Given the description of an element on the screen output the (x, y) to click on. 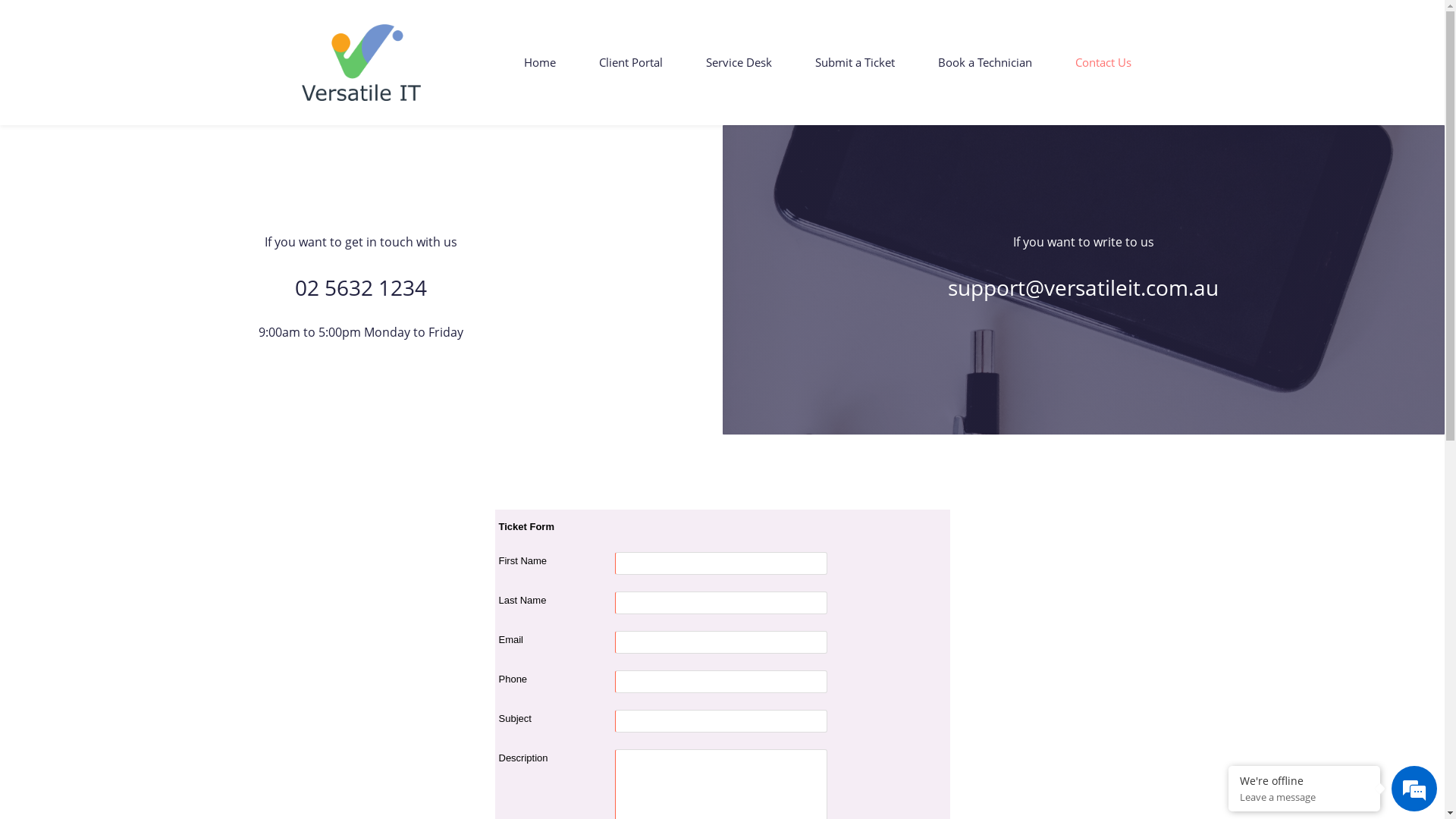
Submit a Ticket Element type: text (854, 62)
Book a Technician Element type: text (984, 62)
Service Desk Element type: text (738, 62)
Home Element type: text (539, 62)
Contact Us Element type: text (1103, 62)
Client Portal Element type: text (630, 62)
